Given the description of an element on the screen output the (x, y) to click on. 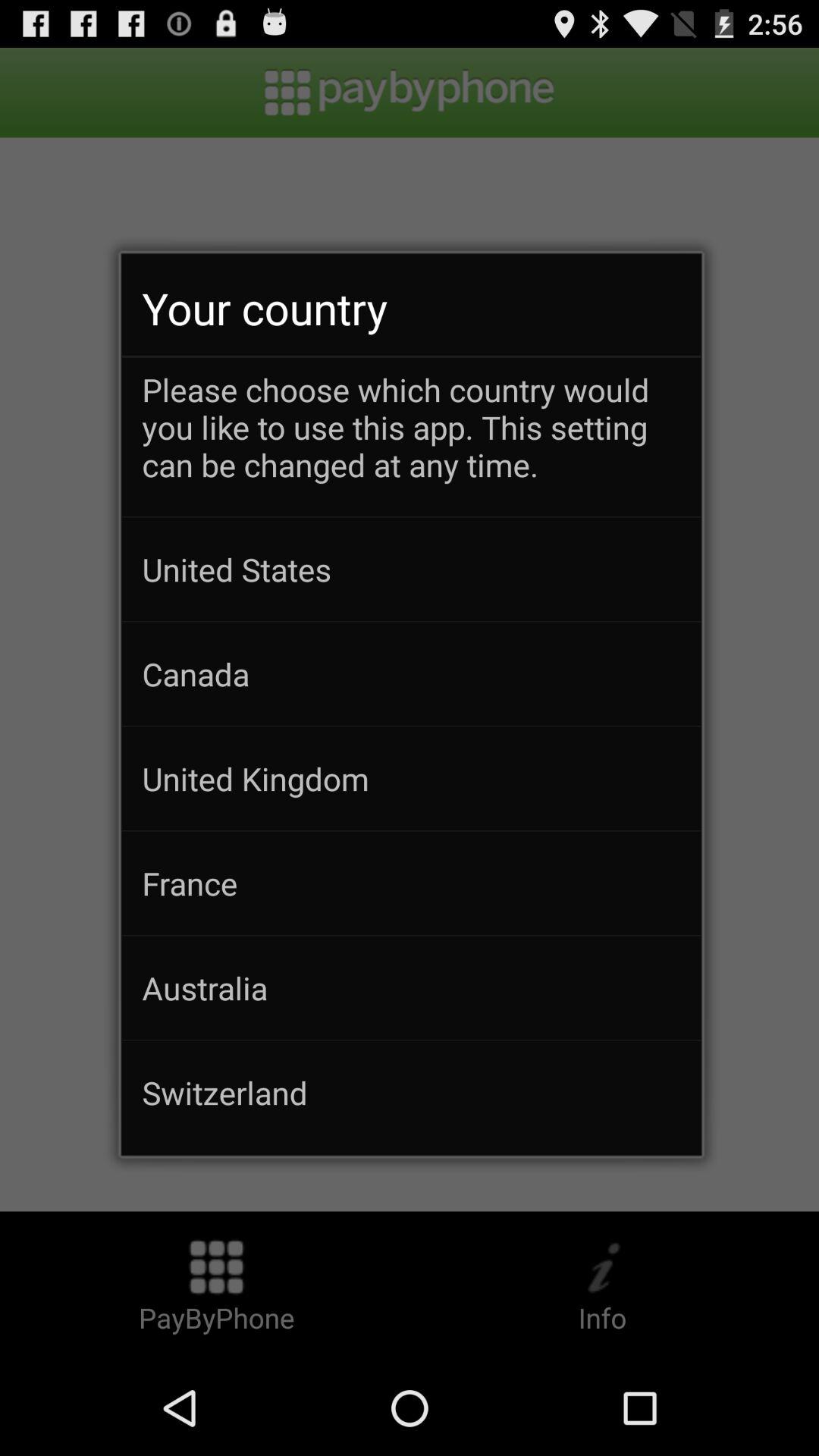
flip until the australia app (411, 987)
